Given the description of an element on the screen output the (x, y) to click on. 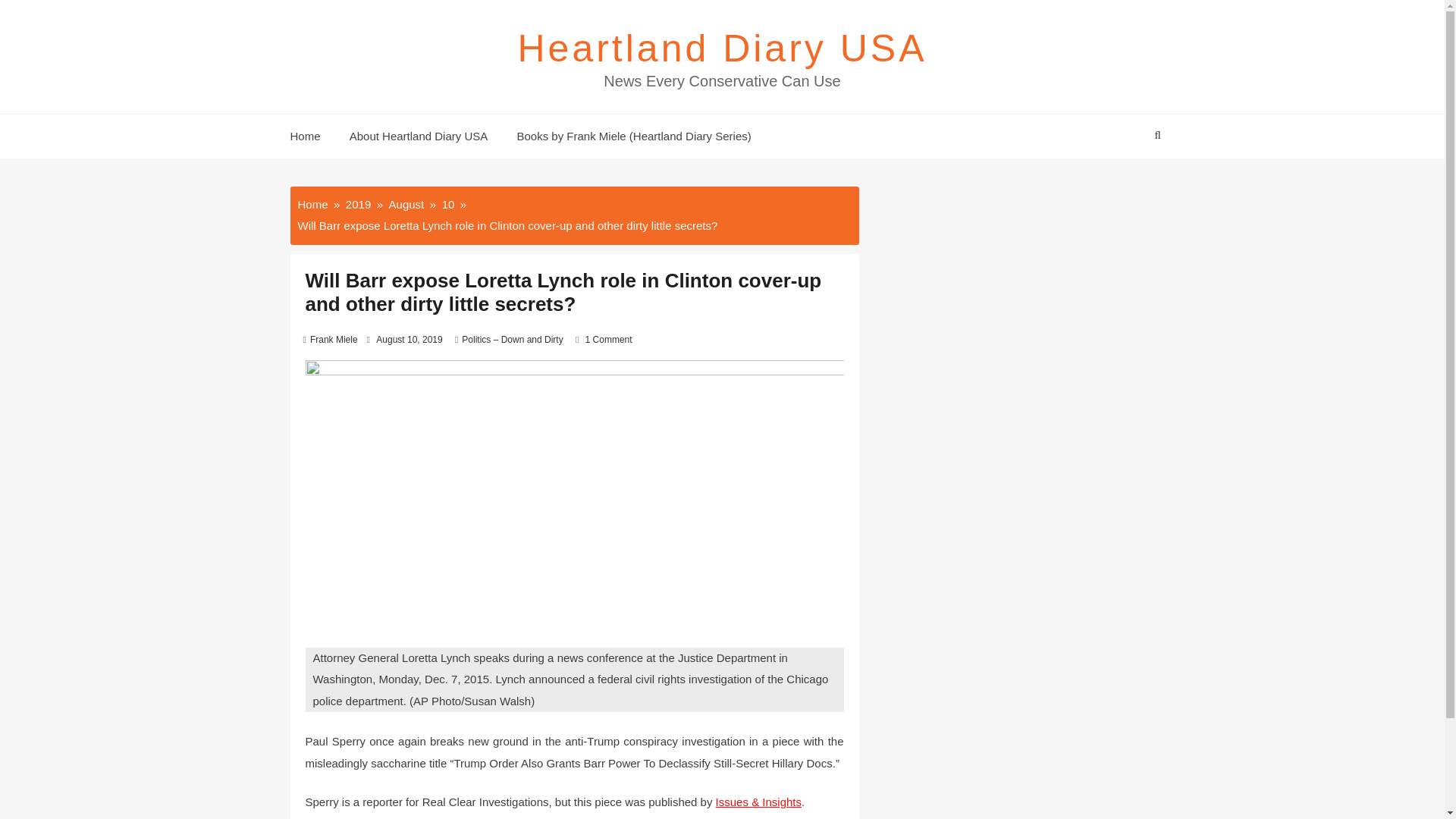
Heartland Diary USA (721, 48)
Home (312, 203)
1 Comment (608, 339)
Frank Miele (334, 339)
2019 (358, 203)
August 10, 2019 (408, 339)
August (406, 203)
About Heartland Diary USA (418, 136)
Home (311, 136)
10 (448, 203)
